Given the description of an element on the screen output the (x, y) to click on. 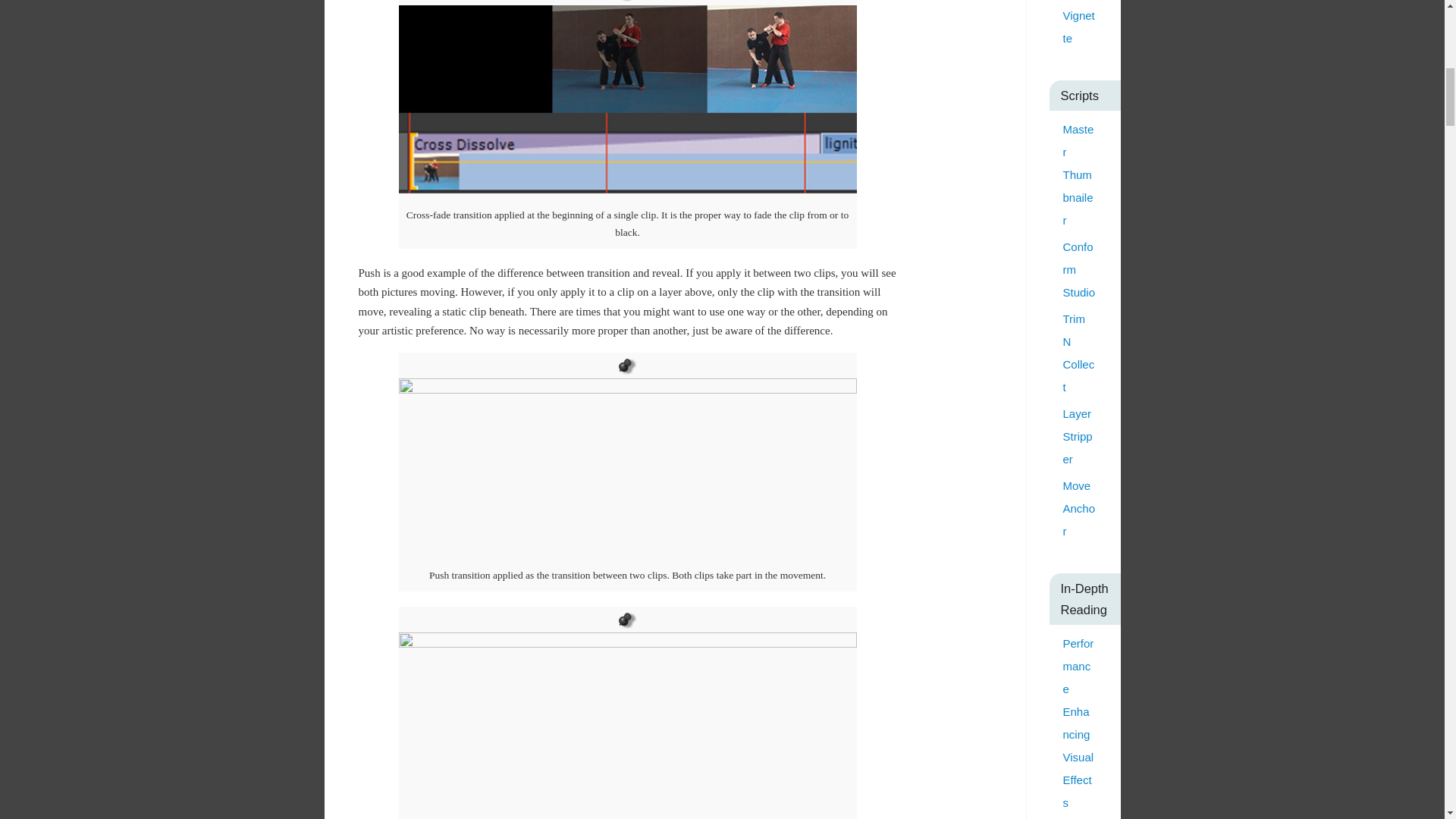
push-reveal (627, 725)
push-transition (627, 468)
cross-fade-single (627, 98)
